Given the description of an element on the screen output the (x, y) to click on. 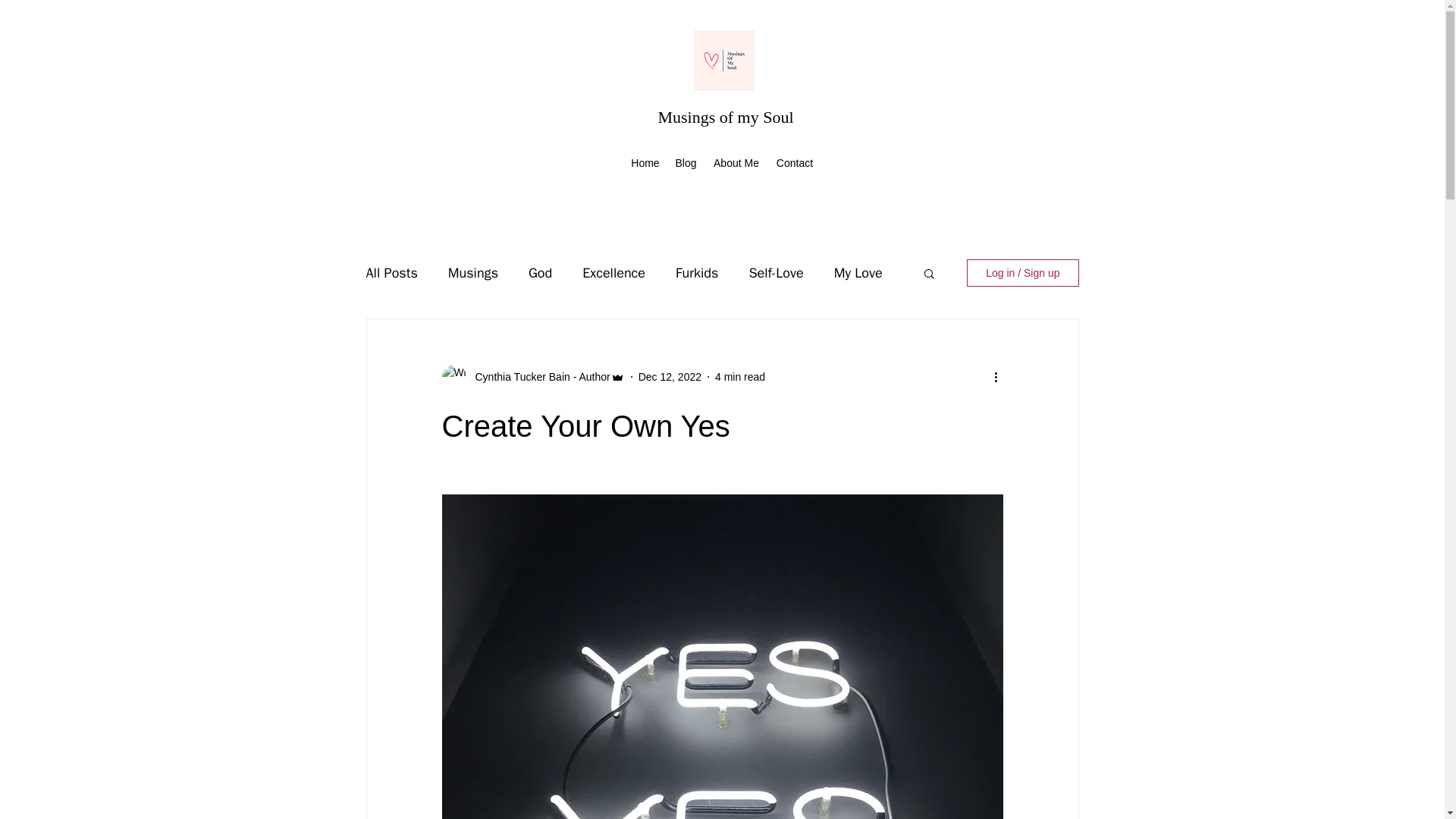
My Love (858, 272)
Contact (794, 162)
Blog (685, 162)
All Posts (390, 272)
Musings of my Soul (725, 116)
Home (644, 162)
Cynthia Tucker Bain - Author (537, 376)
Dec 12, 2022 (670, 377)
Musings (472, 272)
About Me (736, 162)
